Given the description of an element on the screen output the (x, y) to click on. 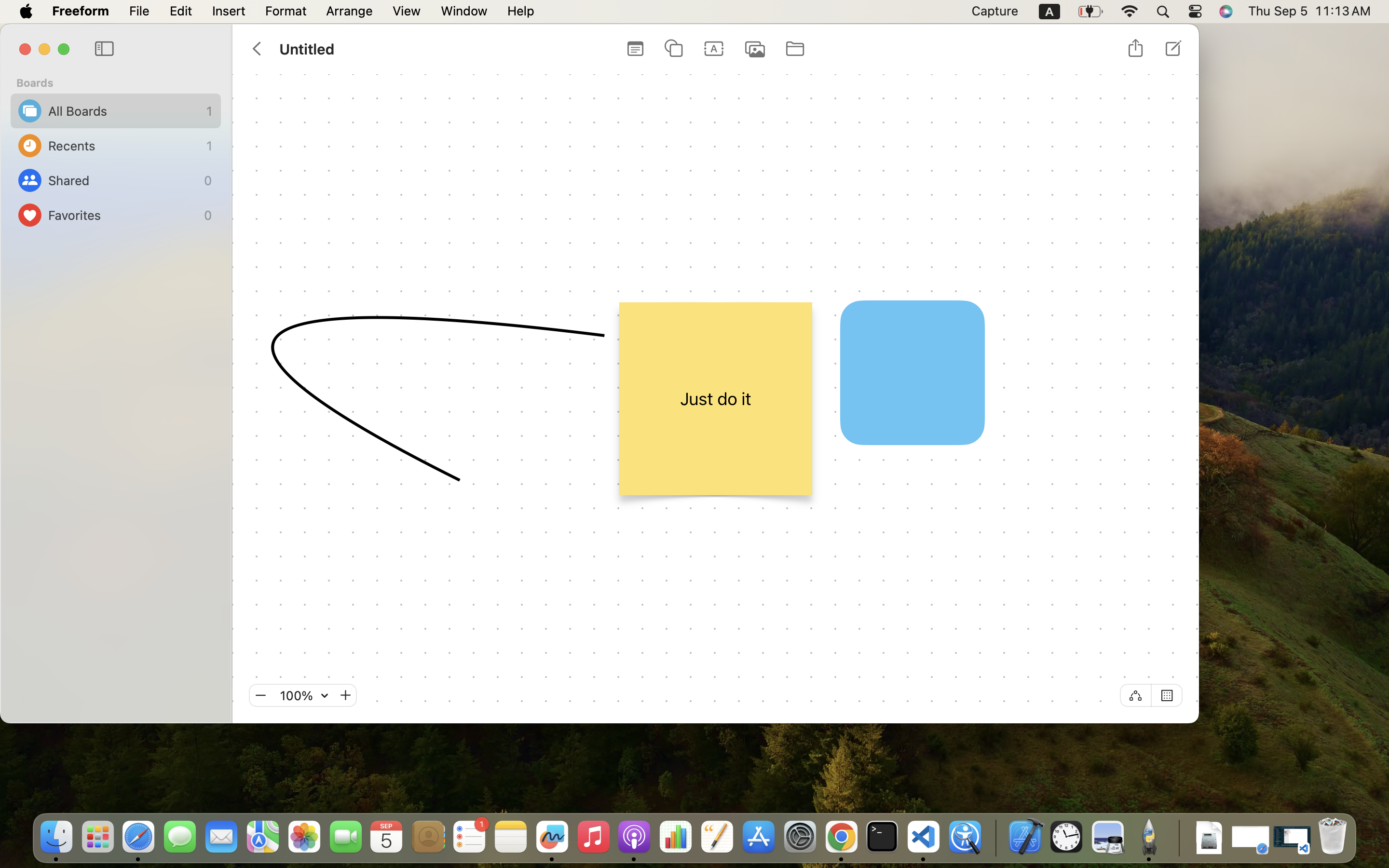
Recents Element type: AXStaticText (124, 145)
Shared Element type: AXStaticText (123, 180)
Off Element type: AXButton (1134, 694)
On Element type: AXButton (1166, 694)
